Given the description of an element on the screen output the (x, y) to click on. 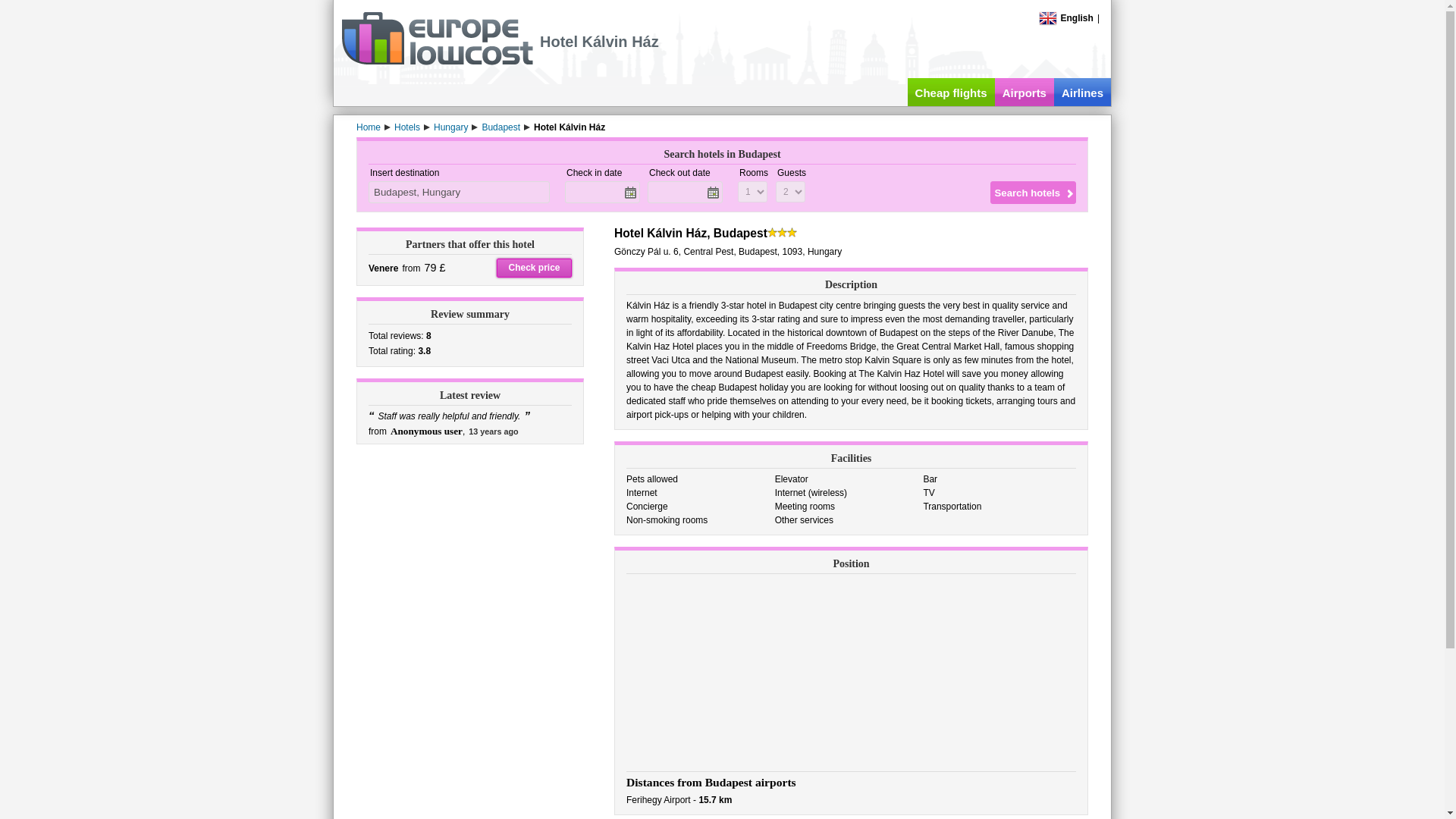
Airlines (1082, 91)
Airports (1024, 91)
Budapest (500, 127)
Home (368, 127)
Hotels (407, 127)
Europelowcost.co.uk (436, 61)
Search hotels (1033, 191)
Cheap flights (950, 91)
Home (368, 127)
Budapest (500, 127)
Hungary (450, 127)
Hotels (407, 127)
Hungary (450, 127)
Airlines (1082, 91)
Check price (534, 267)
